Given the description of an element on the screen output the (x, y) to click on. 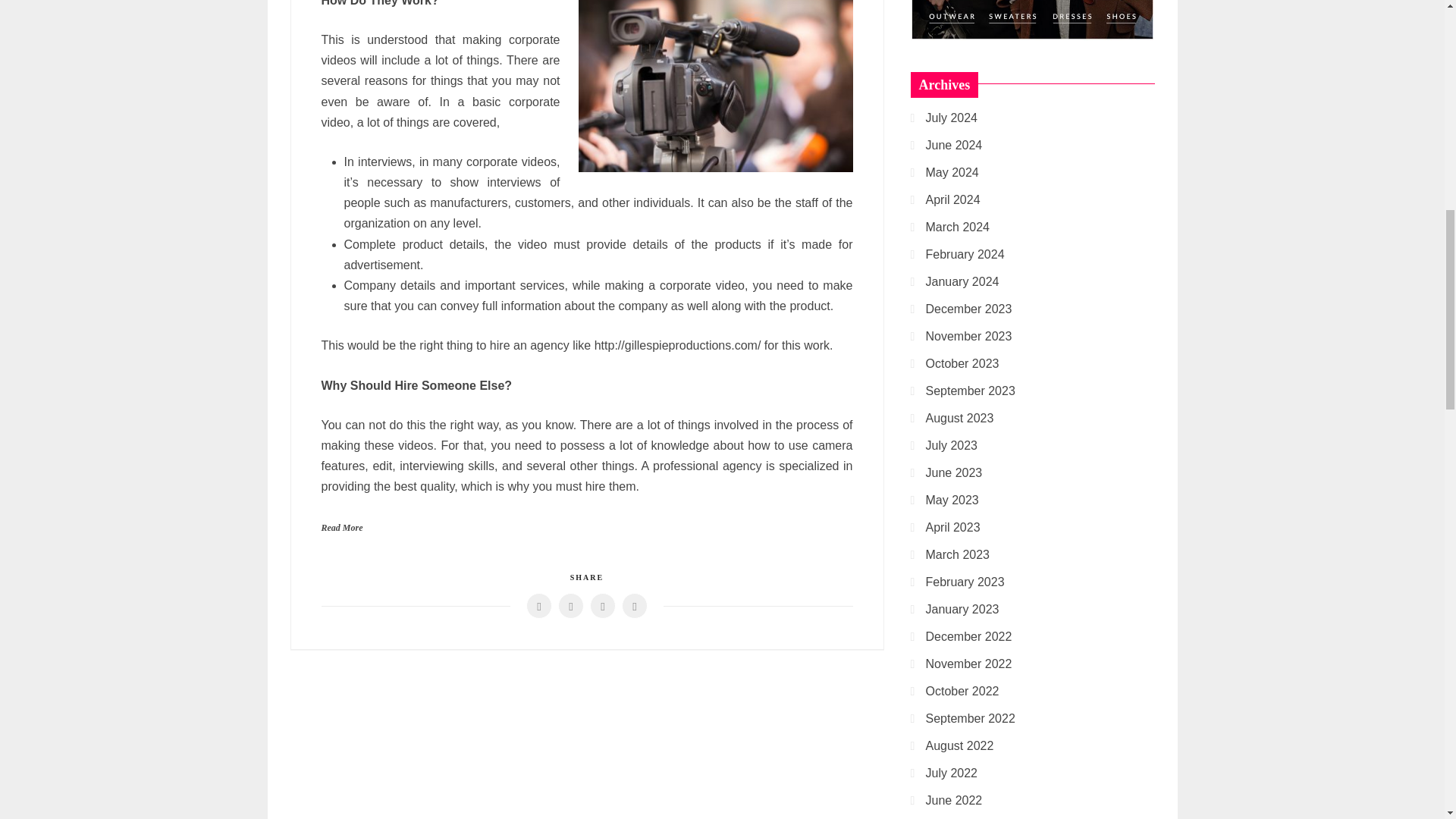
Read More (341, 526)
